Given the description of an element on the screen output the (x, y) to click on. 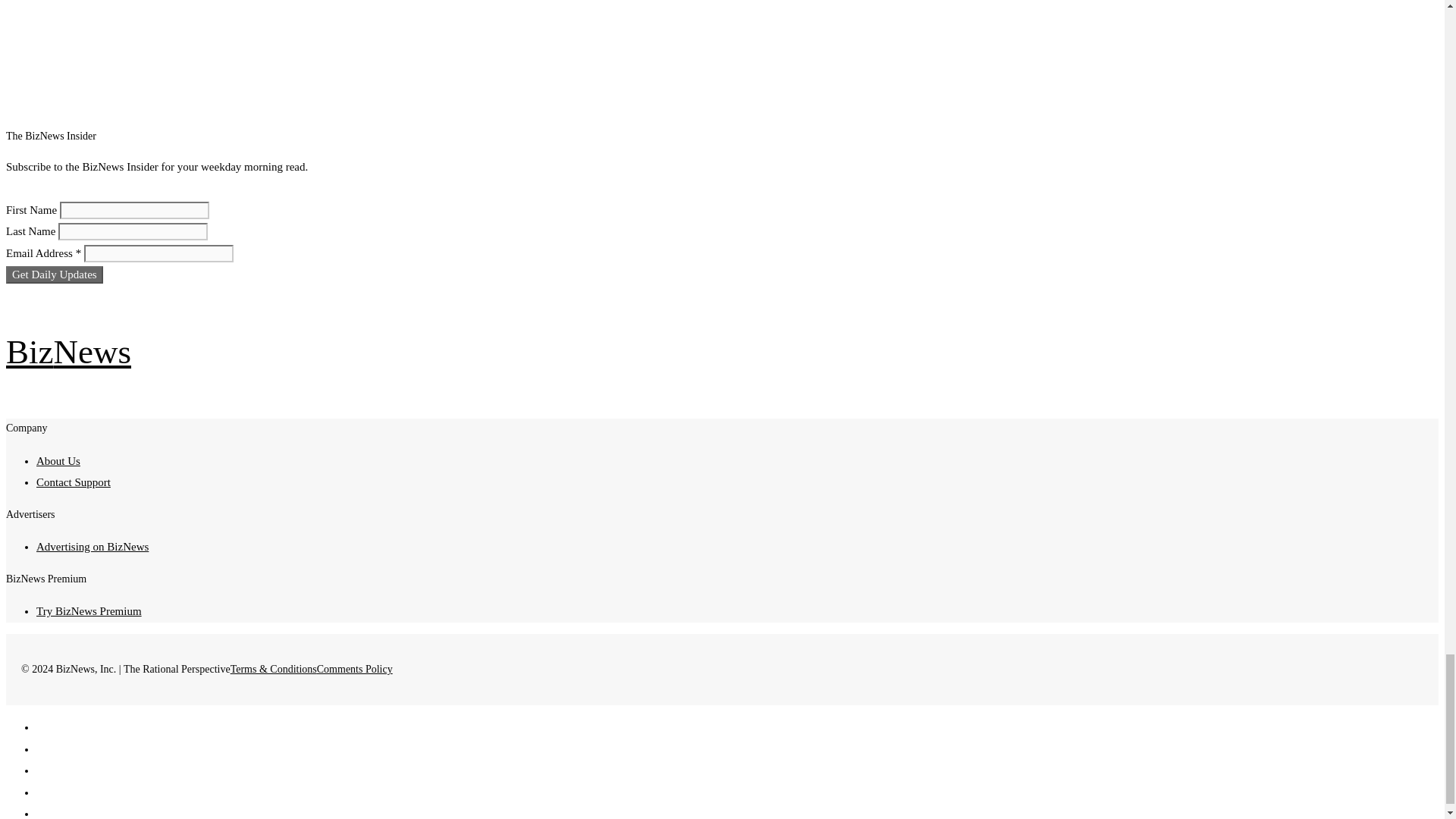
Spotify Embed: BizNews Radio (464, 40)
BizNews (68, 351)
Get Daily Updates (54, 274)
